Given the description of an element on the screen output the (x, y) to click on. 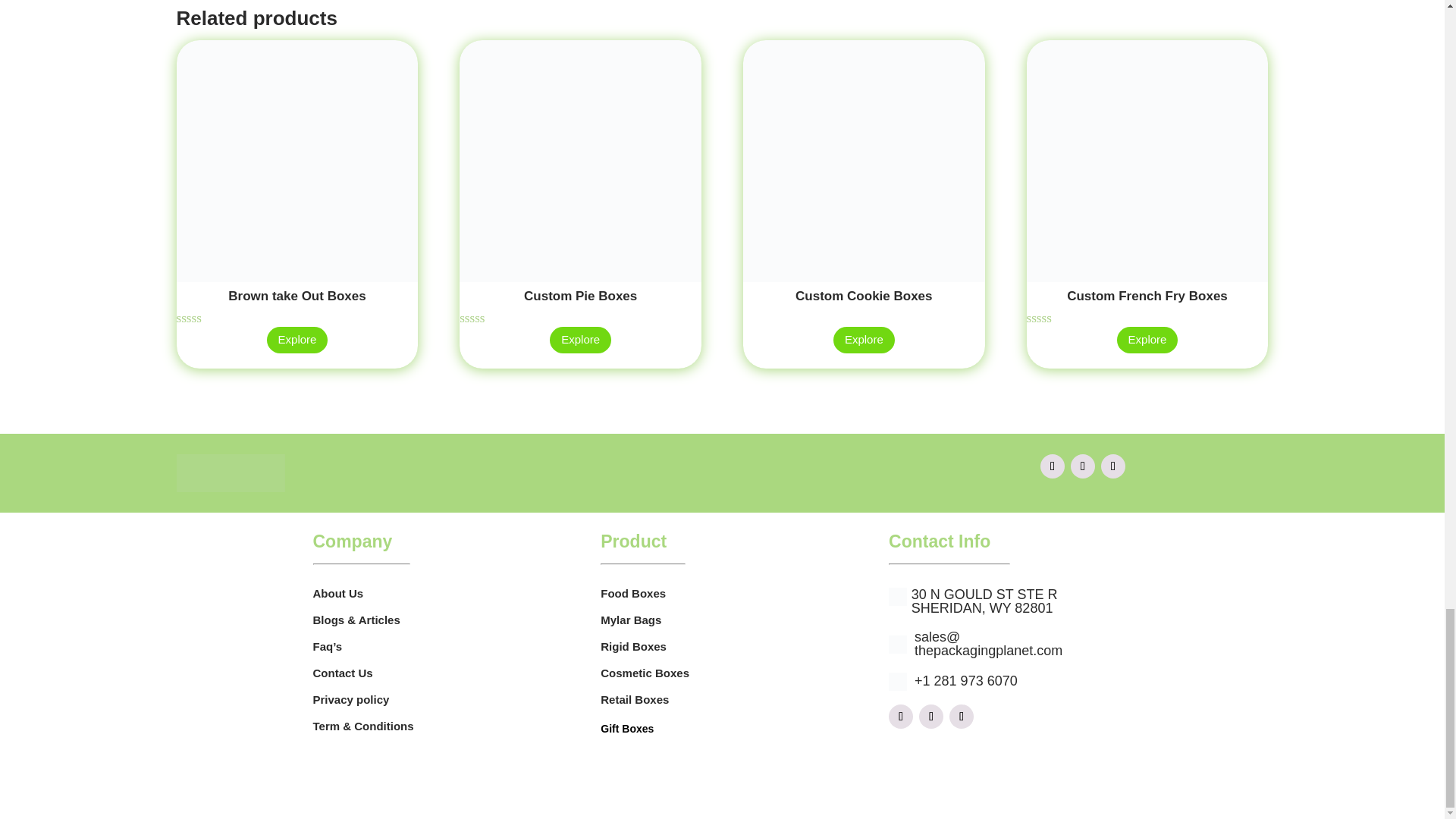
Follow on Instagram (1082, 466)
Follow on Instagram (930, 716)
Follow on LinkedIn (1112, 466)
Follow on Facebook (1052, 466)
Follow on Facebook (900, 716)
Follow on LinkedIn (961, 716)
